Given the description of an element on the screen output the (x, y) to click on. 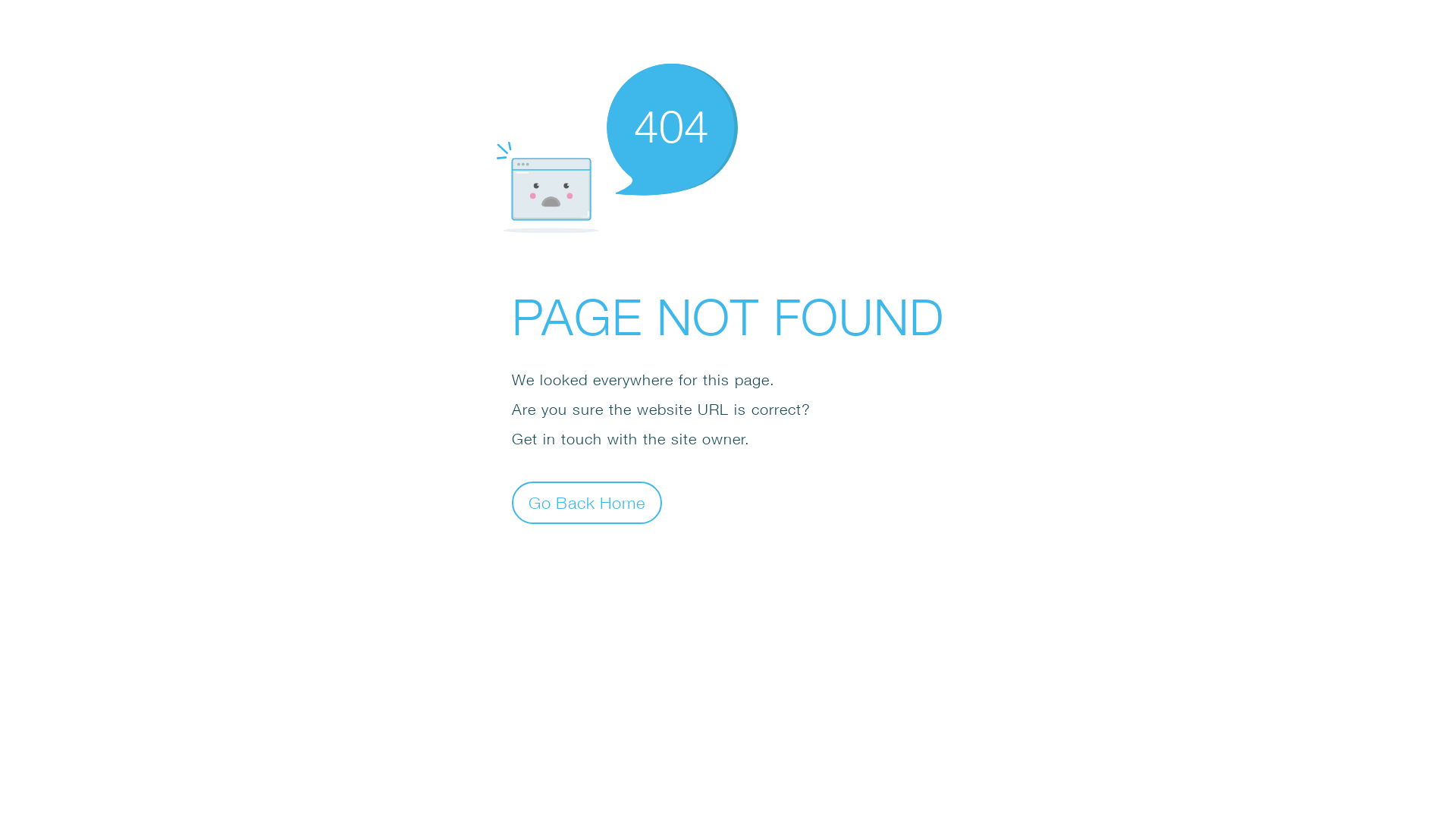
Go Back Home Element type: text (586, 502)
